Given the description of an element on the screen output the (x, y) to click on. 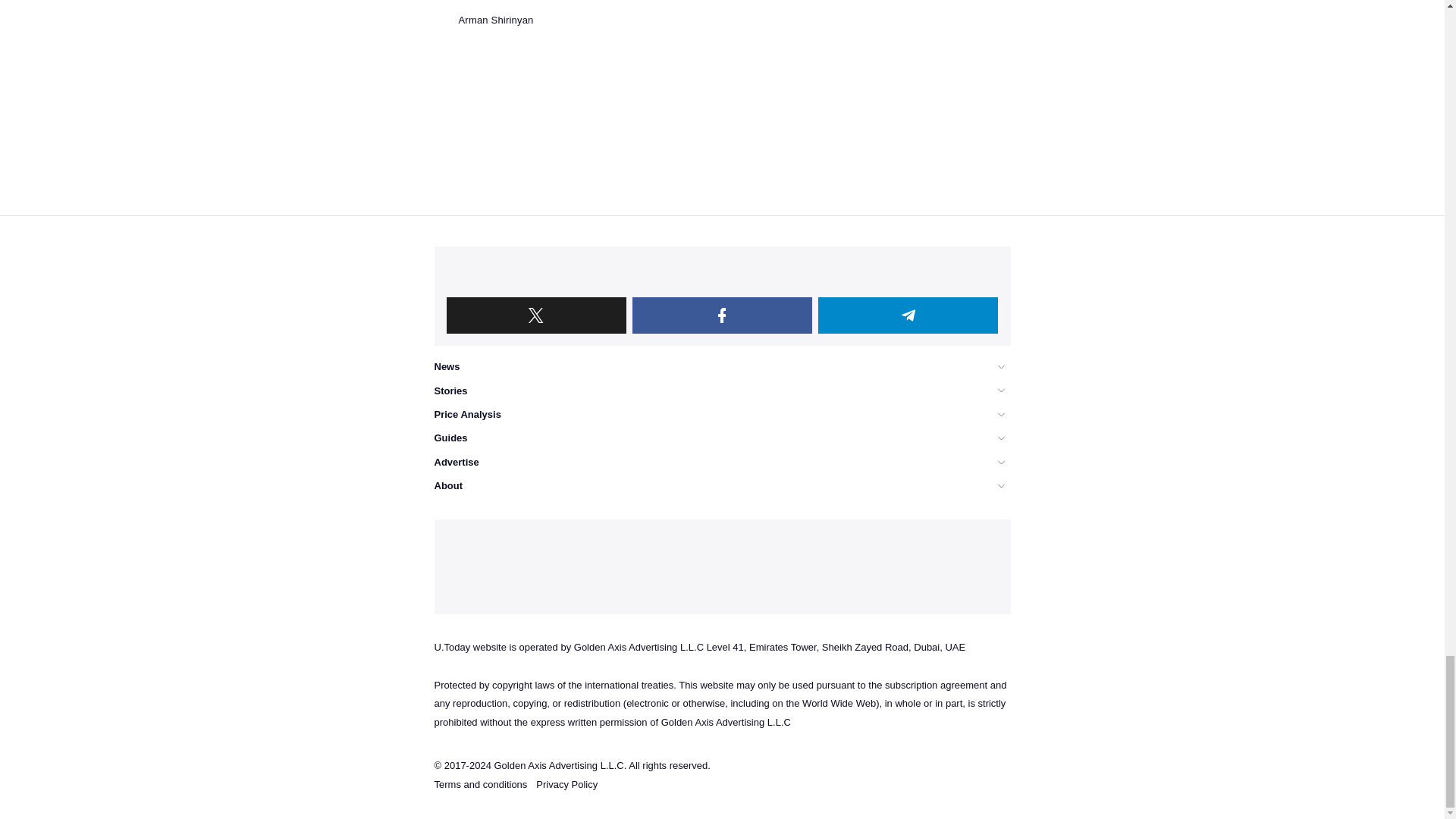
Go to X (535, 315)
Arman Shirinyan (482, 20)
Go to Telegram (907, 315)
Go to Facebook (721, 315)
